Given the description of an element on the screen output the (x, y) to click on. 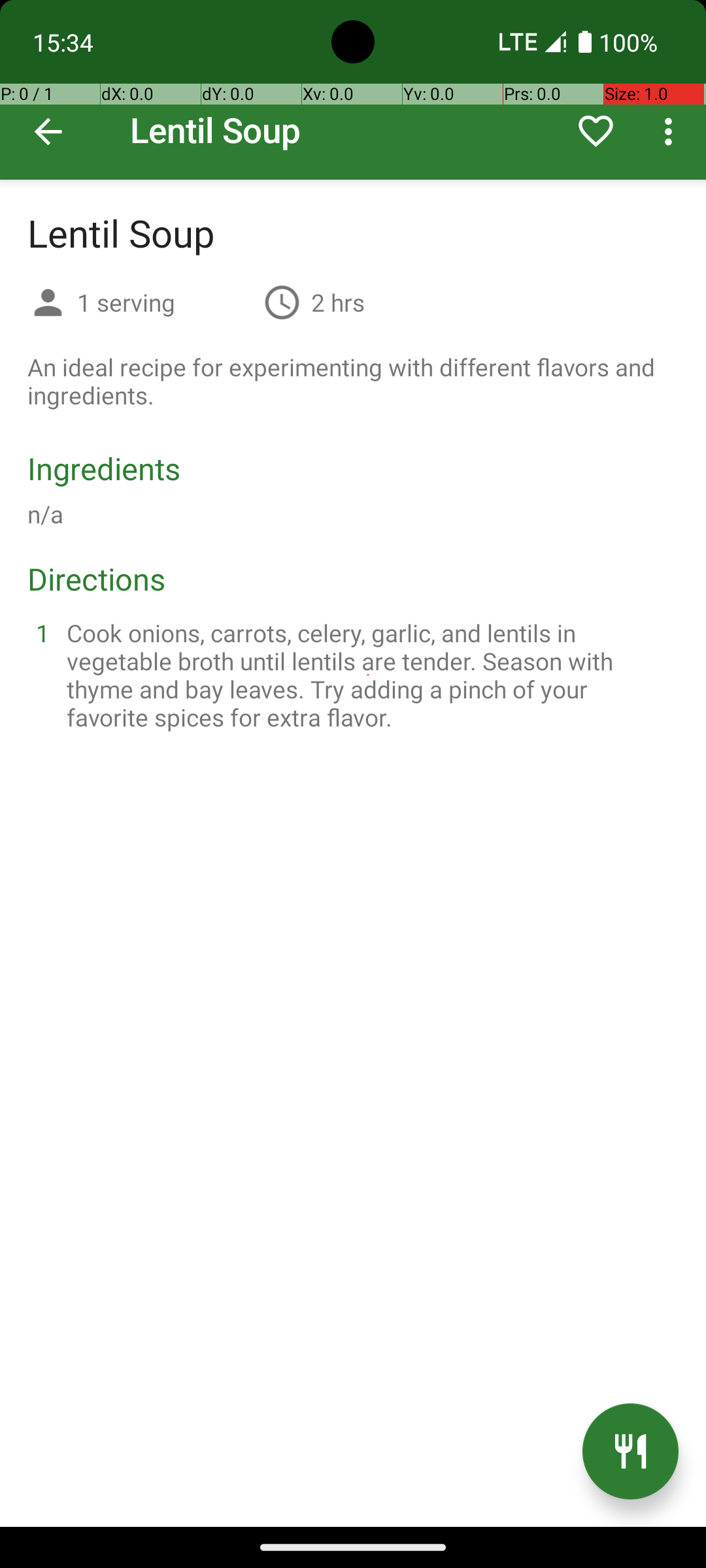
Cook onions, carrots, celery, garlic, and lentils in vegetable broth until lentils are tender. Season with thyme and bay leaves. Try adding a pinch of your favorite spices for extra flavor. Element type: android.widget.TextView (368, 674)
